Given the description of an element on the screen output the (x, y) to click on. 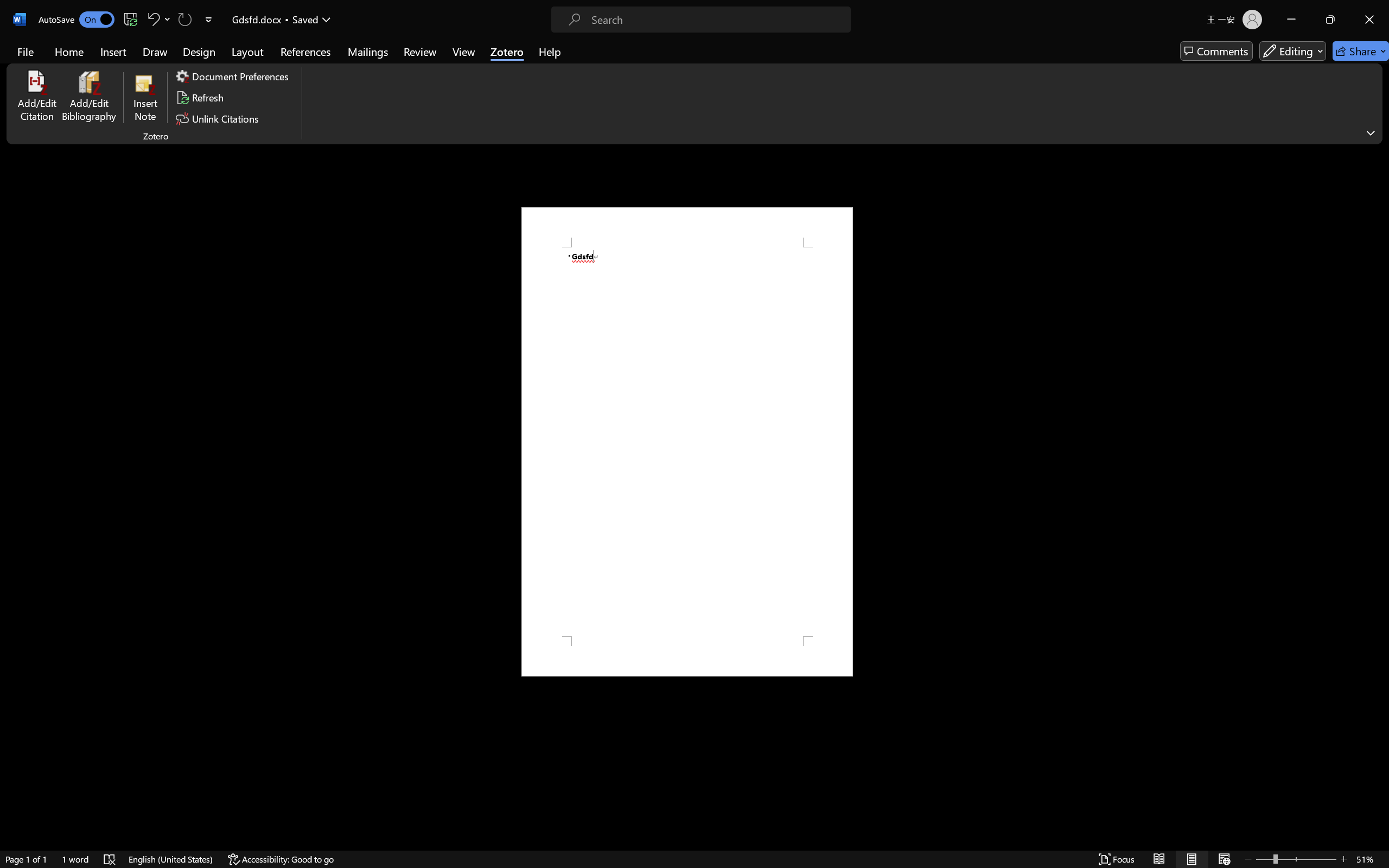
Page 1 content (686, 441)
